Given the description of an element on the screen output the (x, y) to click on. 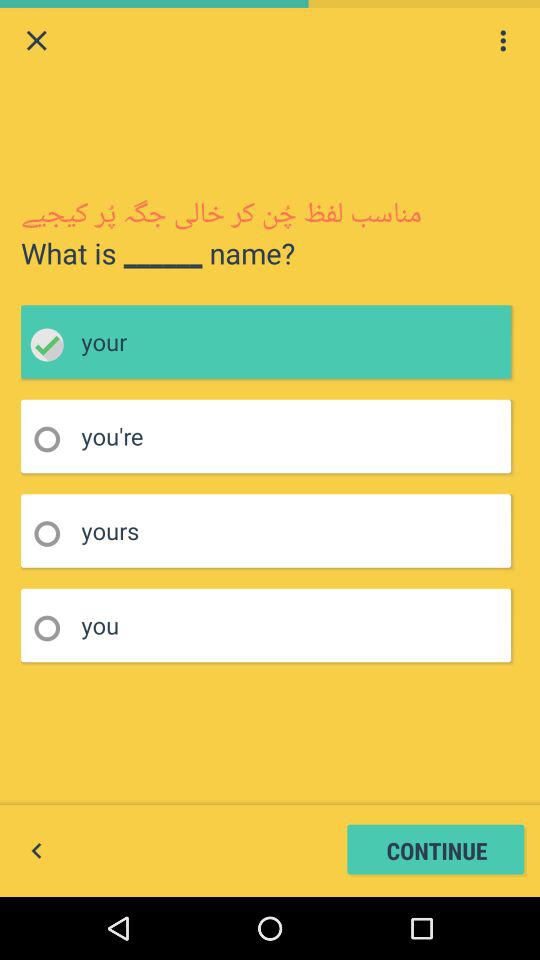
click youtube option (53, 439)
